Given the description of an element on the screen output the (x, y) to click on. 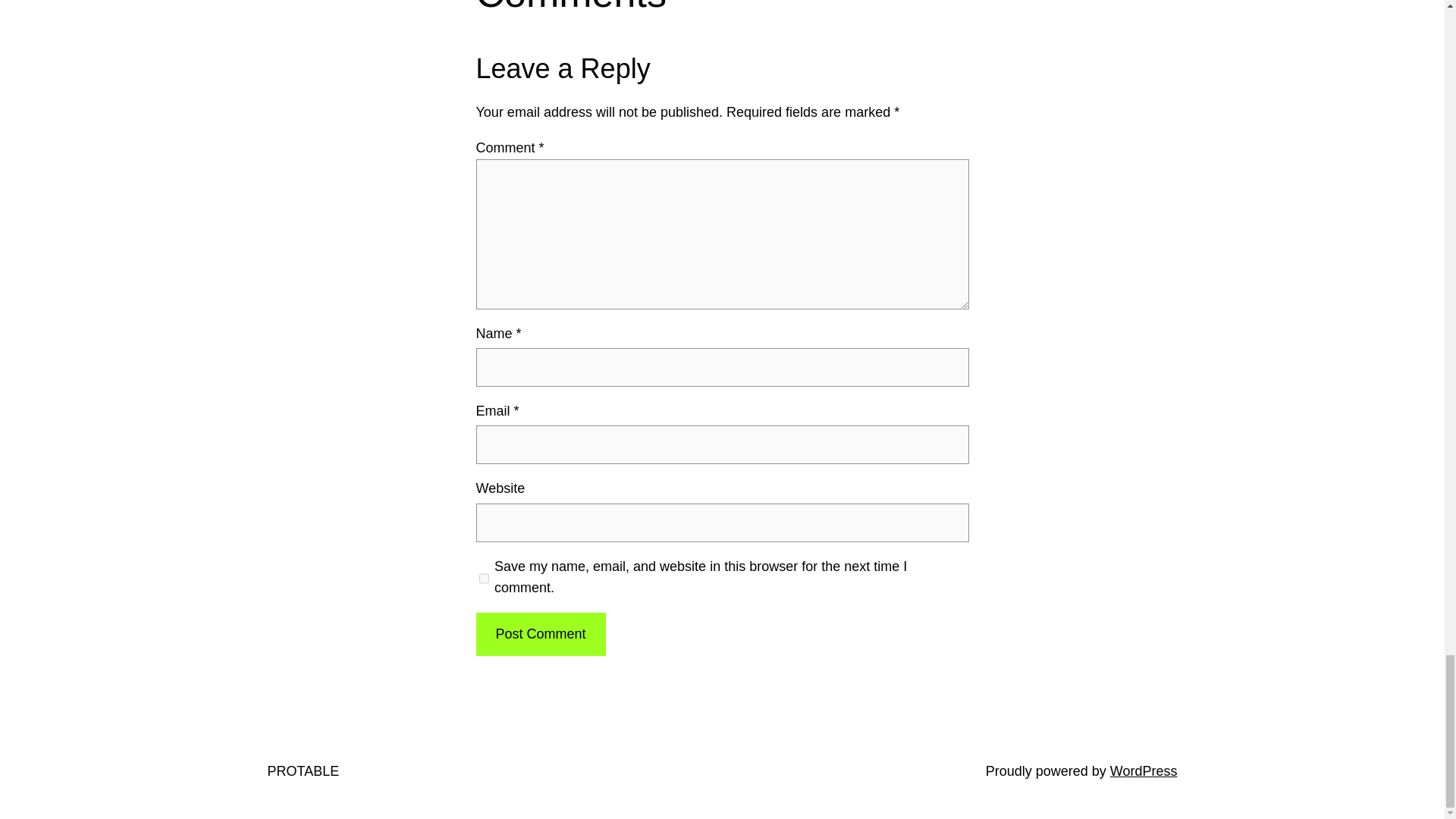
Post Comment (540, 634)
Post Comment (540, 634)
WordPress (1143, 770)
PROTABLE (302, 770)
